Given the description of an element on the screen output the (x, y) to click on. 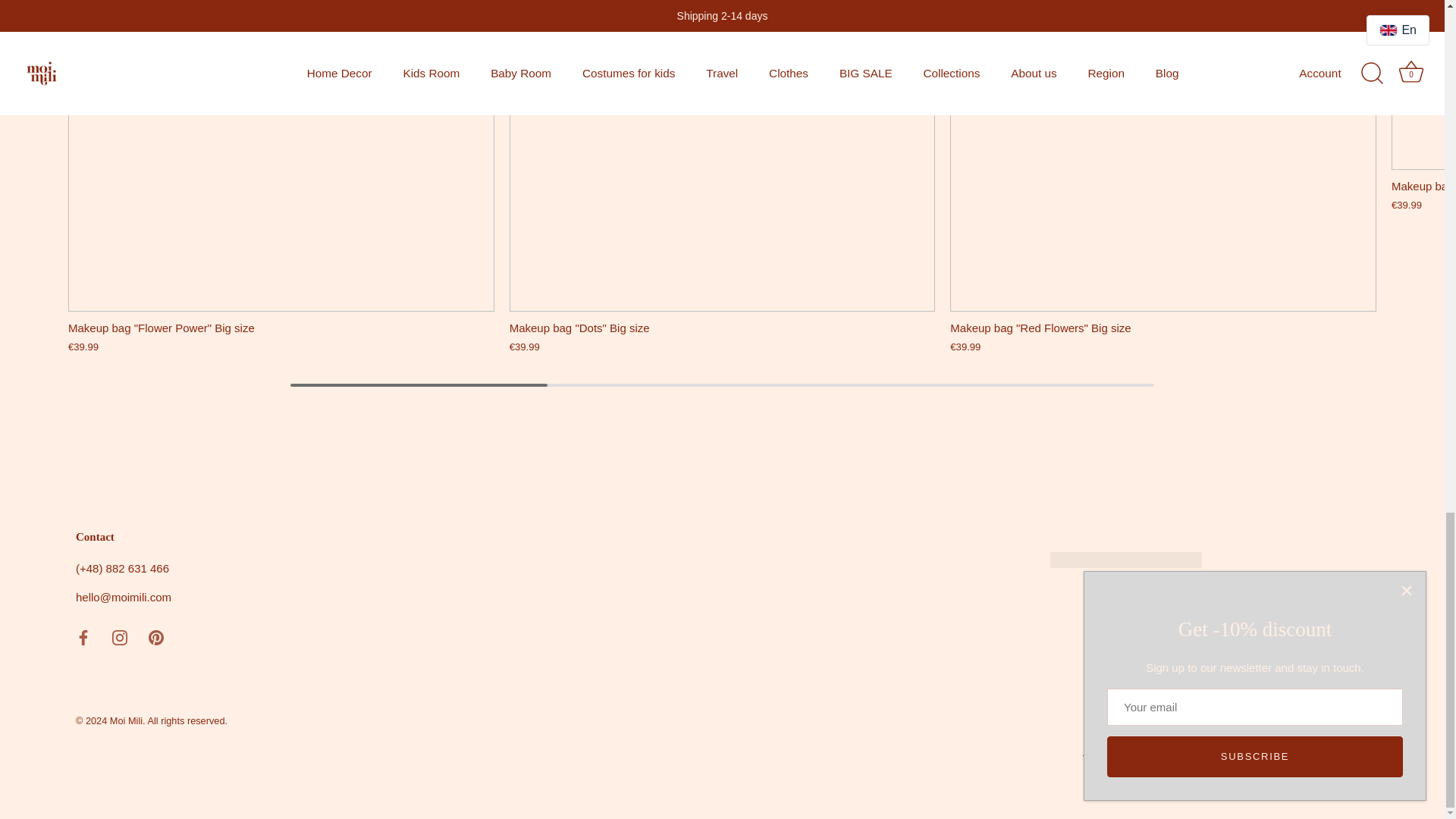
PayPal (1353, 723)
Instagram (120, 637)
Pinterest (155, 637)
Apple Pay (1281, 723)
Google Pay (1317, 723)
